Given the description of an element on the screen output the (x, y) to click on. 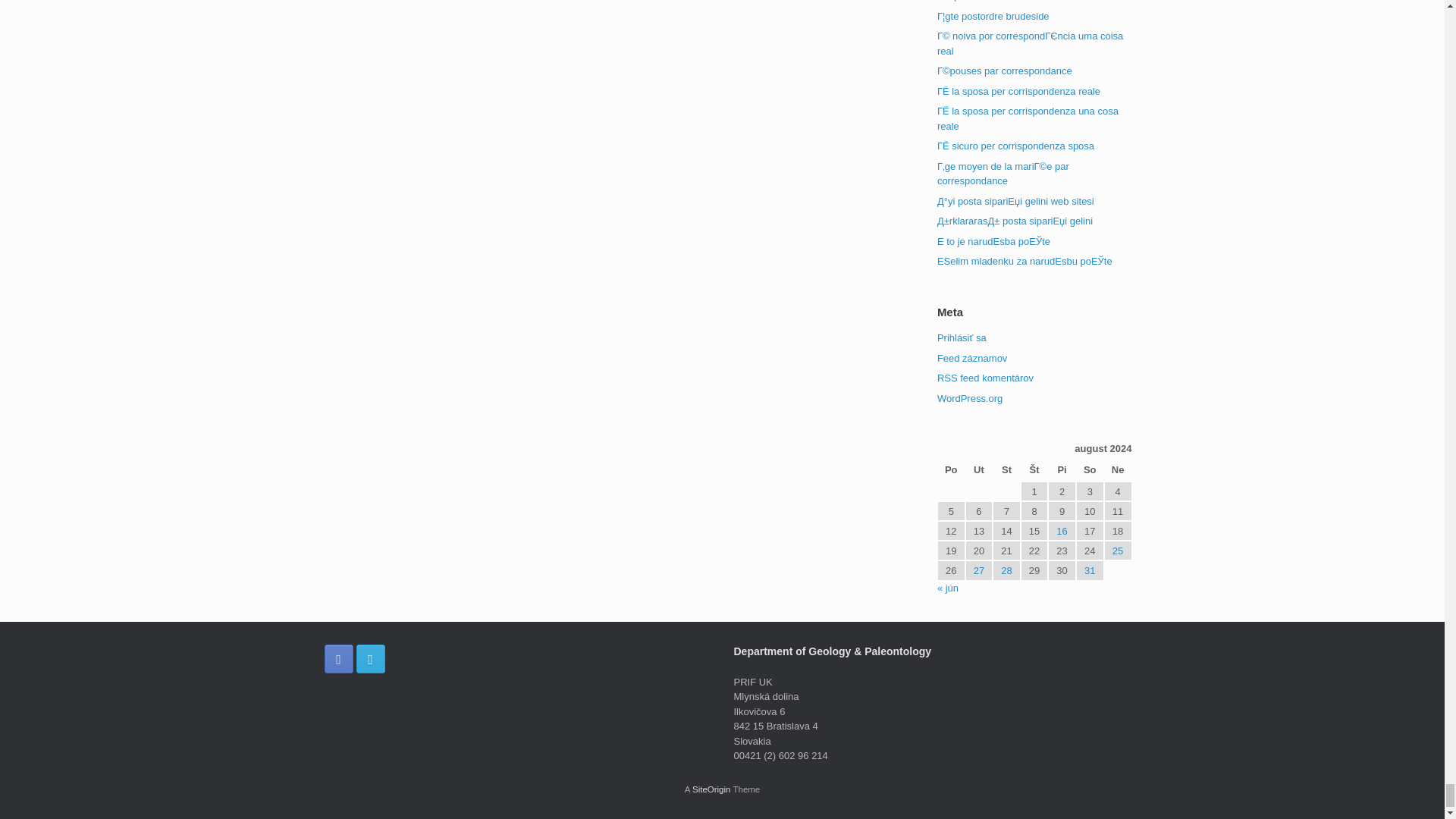
streda (1006, 470)
utorok (978, 470)
sobota (1089, 470)
piatok (1061, 470)
pondelok (951, 470)
